Given the description of an element on the screen output the (x, y) to click on. 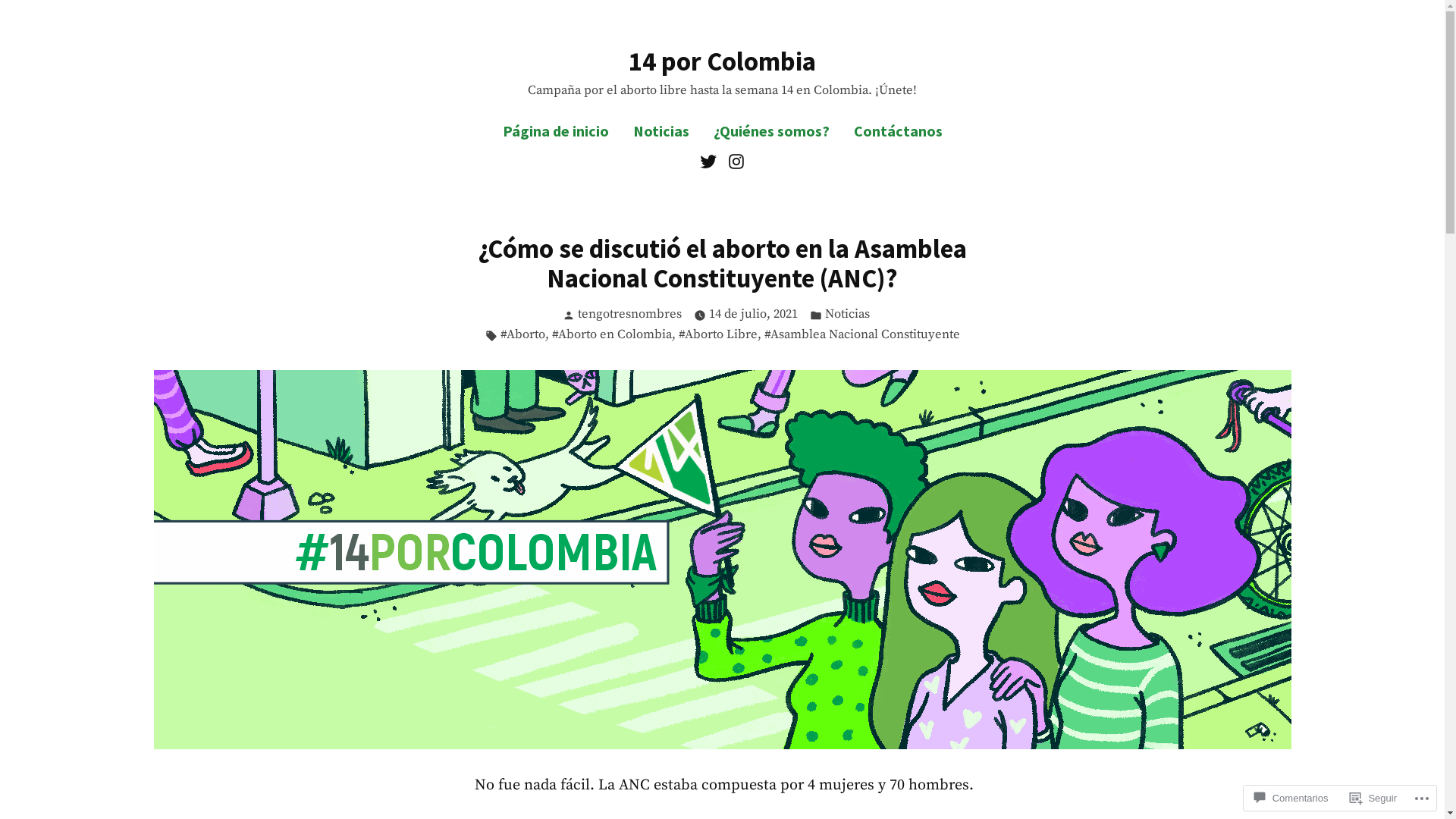
Noticias Element type: text (847, 314)
#Asamblea Nacional Constituyente Element type: text (862, 335)
14 de julio, 2021 Element type: text (753, 314)
Seguir Element type: text (1372, 797)
Comentarios Element type: text (1291, 797)
#Aborto Libre Element type: text (716, 335)
#Aborto en Colombia Element type: text (611, 335)
14 por Colombia Element type: text (721, 60)
#Aborto Element type: text (522, 335)
Noticias Element type: text (660, 130)
tengotresnombres Element type: text (629, 314)
